Given the description of an element on the screen output the (x, y) to click on. 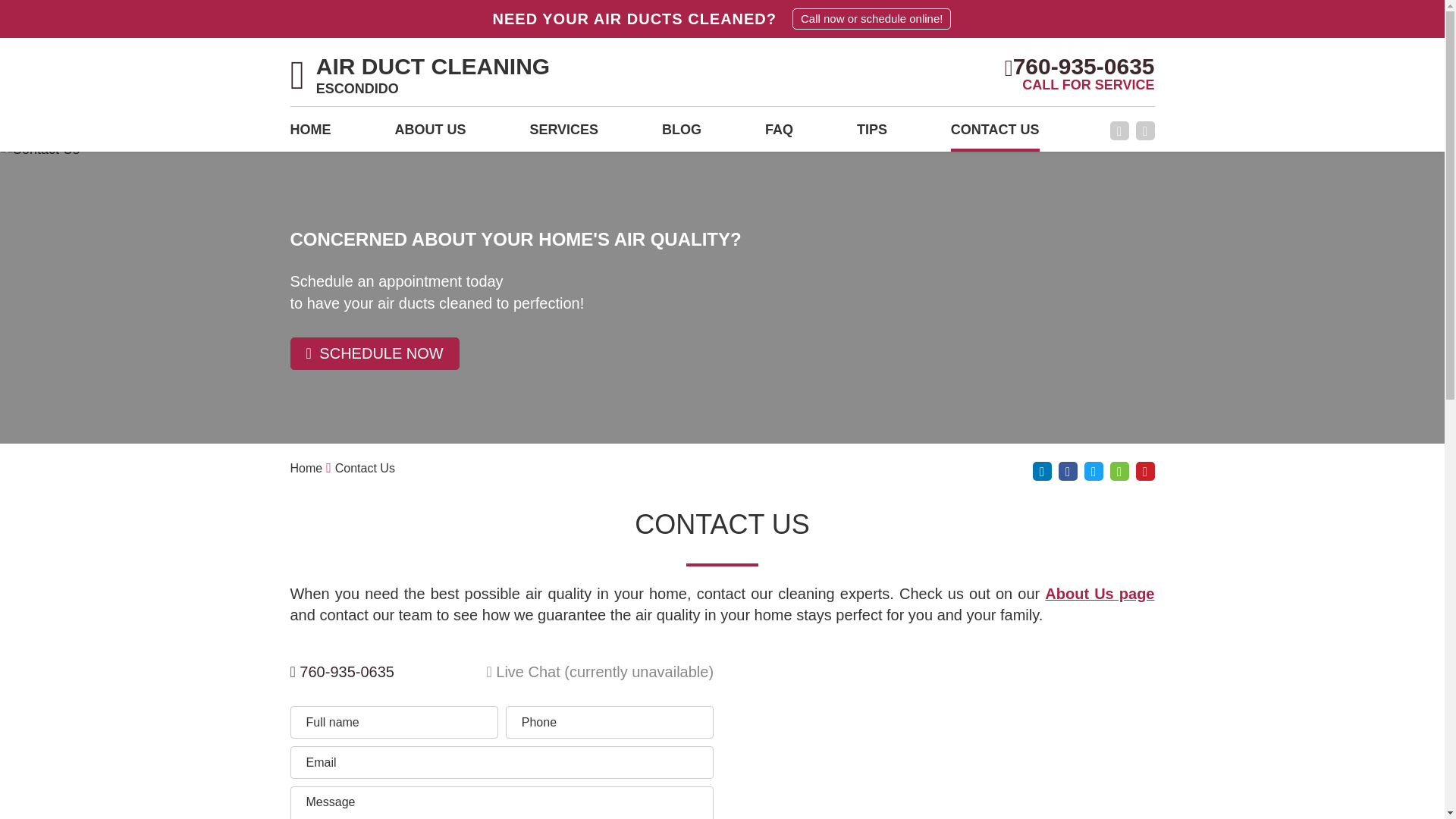
Twitter (1093, 470)
YouTube (1144, 130)
Home (305, 468)
Linkedin (1041, 470)
Air Duct Cleaning Escondido (419, 76)
Call now or schedule online! (1099, 593)
HOME (871, 18)
TIPS (309, 134)
Houzz (871, 134)
About Us page (1119, 470)
Facebook (1099, 593)
BLOG (1119, 130)
CONTACT US (681, 134)
SERVICES (994, 134)
